Given the description of an element on the screen output the (x, y) to click on. 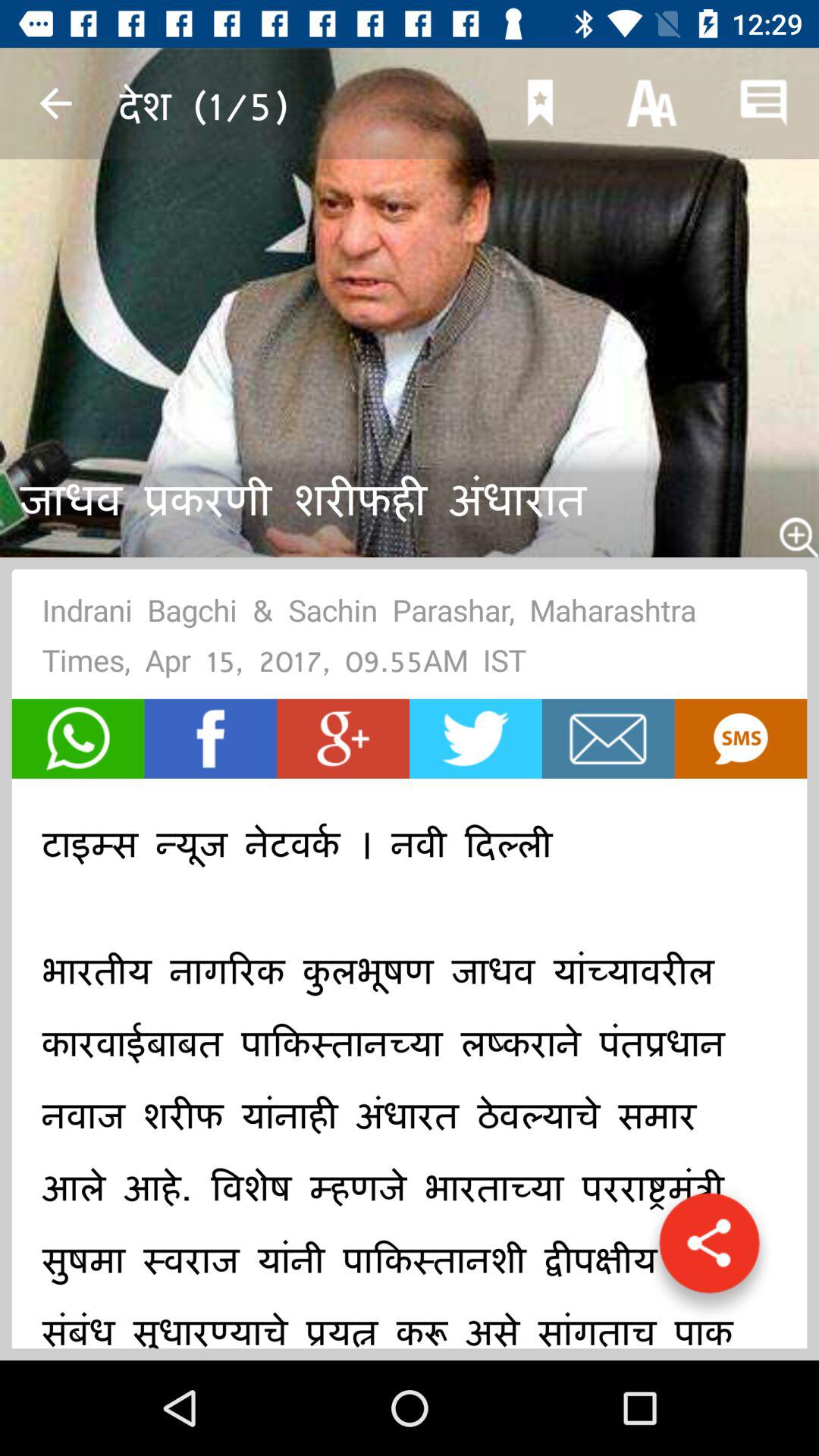
tap the icon below indrani bagchi sachin (77, 738)
